Given the description of an element on the screen output the (x, y) to click on. 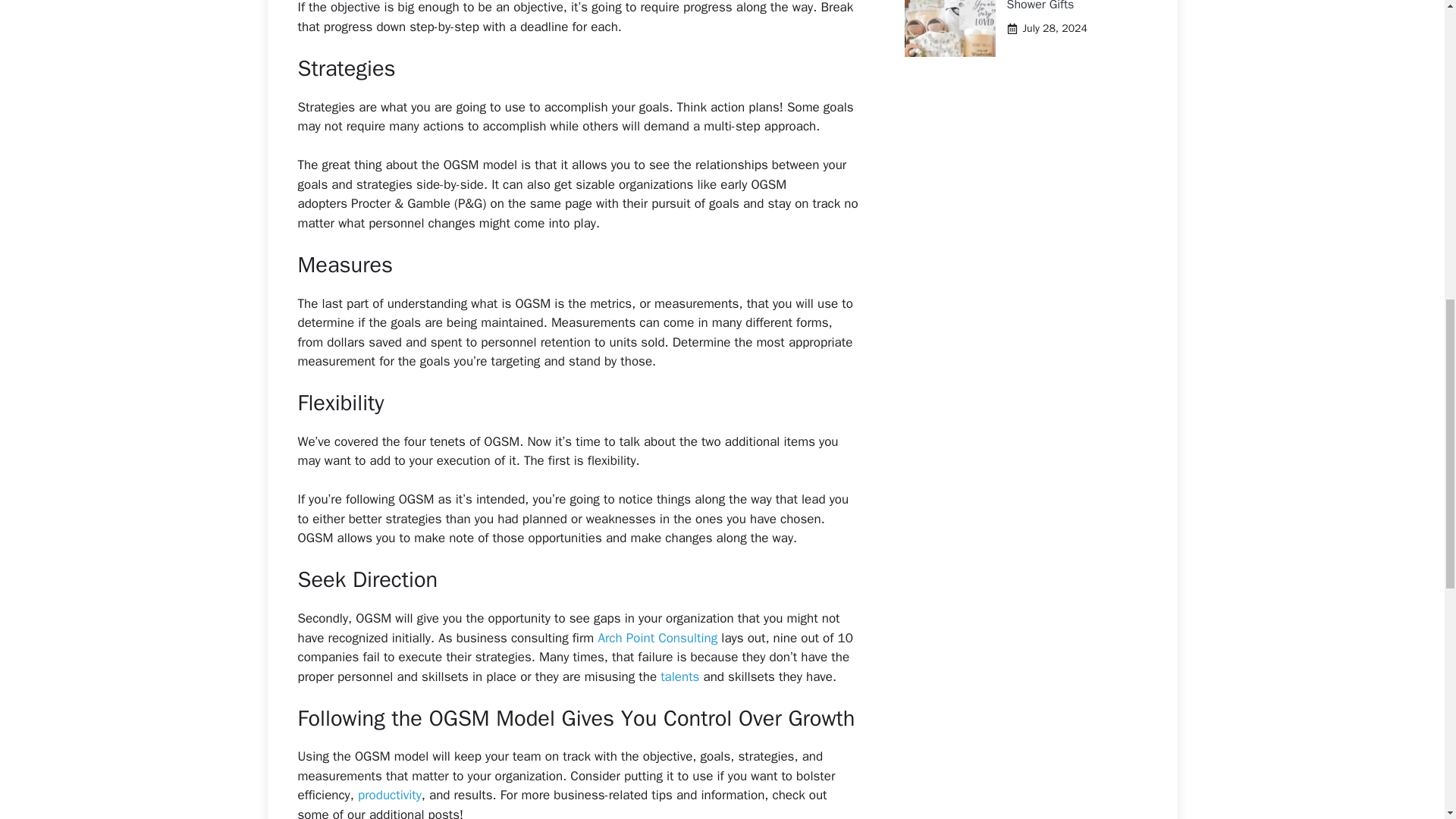
Arch Point Consulting (656, 637)
Showered with Love: The Ultimate Guide to Baby Shower Gifts (1072, 6)
Scroll back to top (1406, 720)
productivity (390, 795)
talents (679, 676)
